Given the description of an element on the screen output the (x, y) to click on. 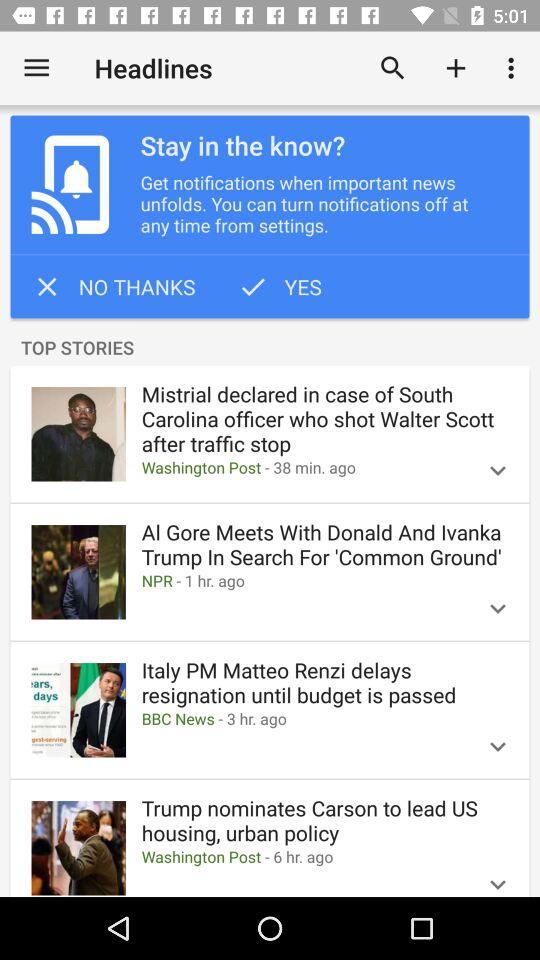
flip to al gore meets item (324, 544)
